Given the description of an element on the screen output the (x, y) to click on. 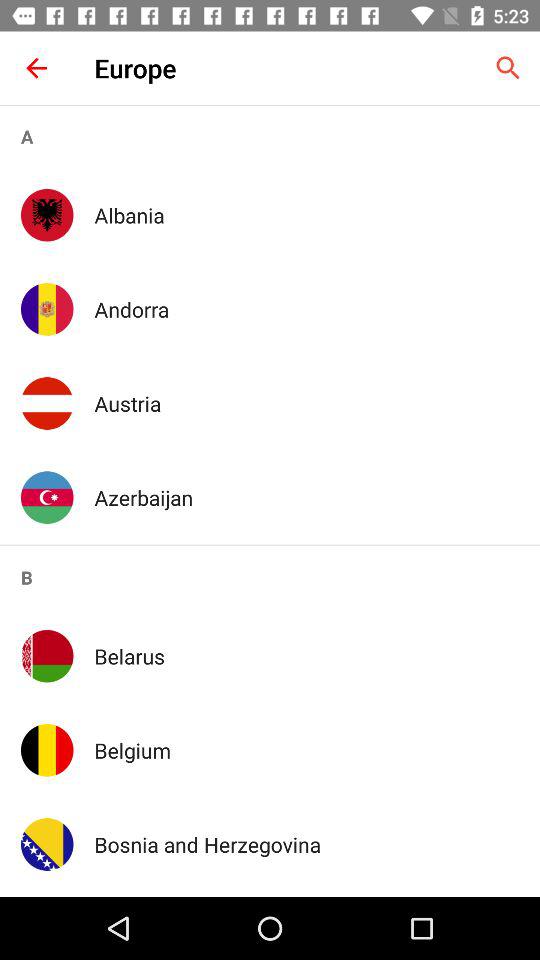
swipe until the a app (270, 136)
